Given the description of an element on the screen output the (x, y) to click on. 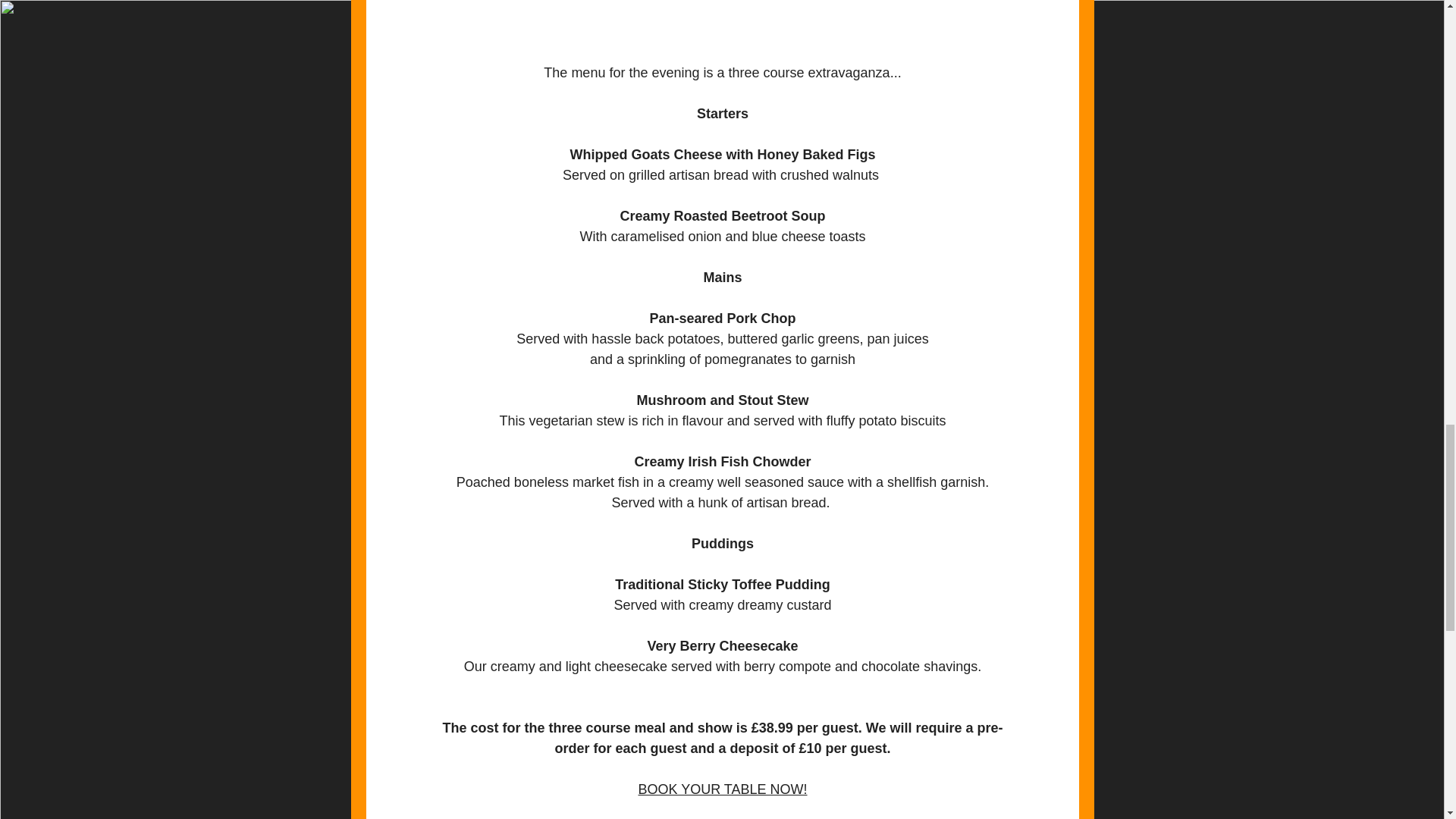
BOOK YOUR TABLE NOW! (721, 789)
